Given the description of an element on the screen output the (x, y) to click on. 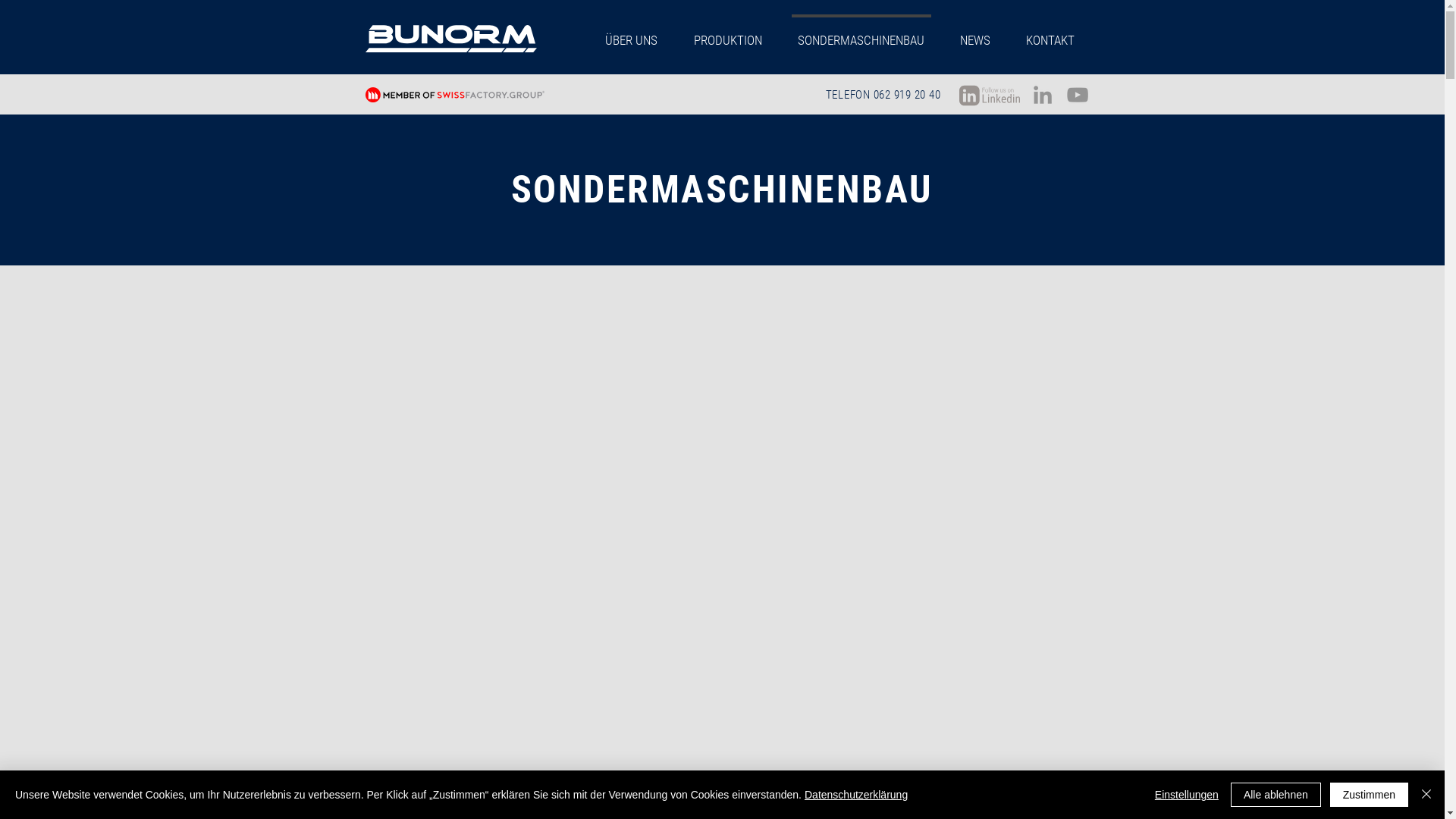
SONDERMASCHINENBAU Element type: text (860, 33)
PRODUKTION Element type: text (728, 33)
Zustimmen Element type: text (1369, 794)
NEWS Element type: text (974, 33)
Alle ablehnen Element type: text (1275, 794)
KONTAKT Element type: text (1050, 33)
